Given the description of an element on the screen output the (x, y) to click on. 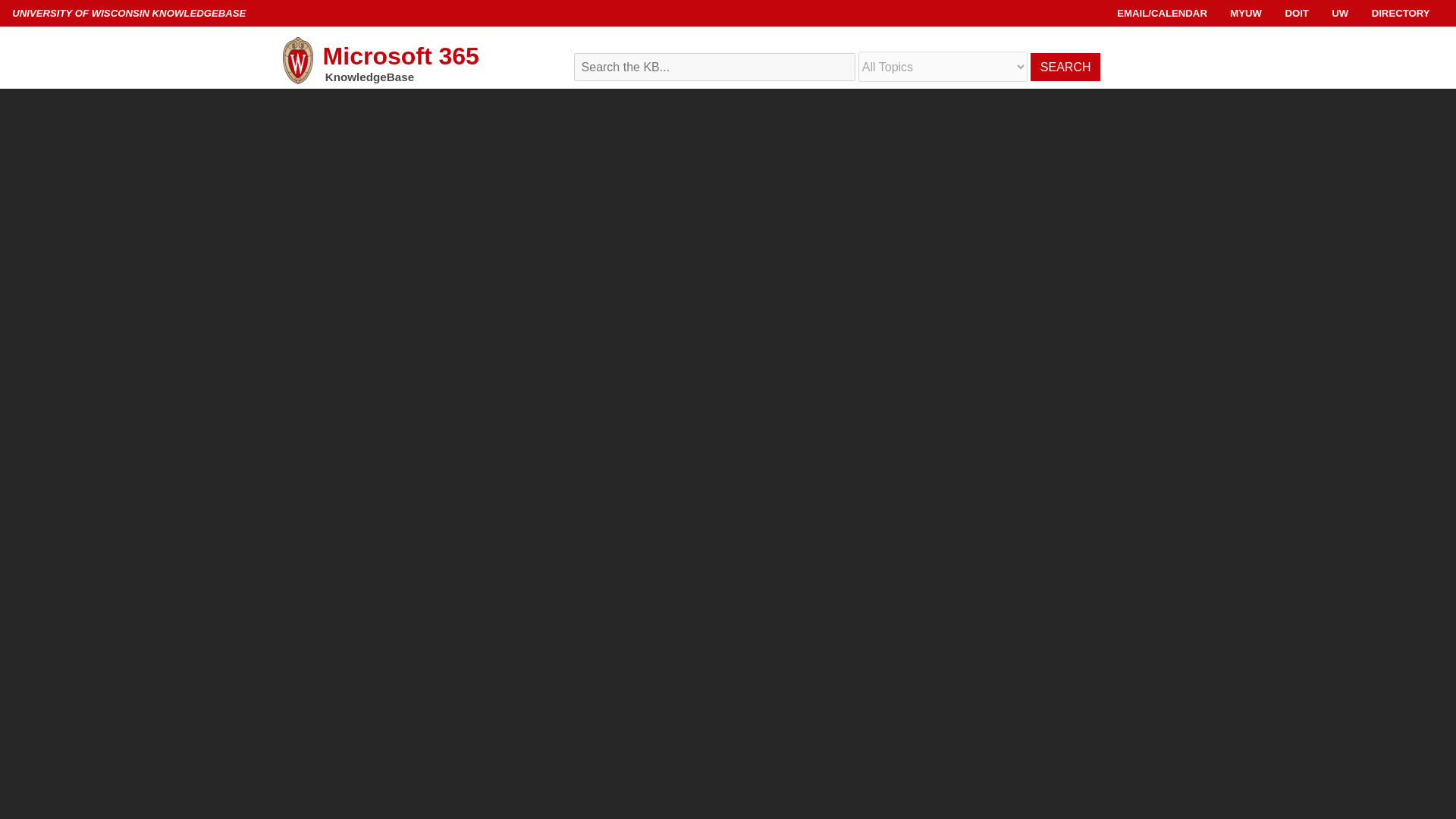
Microsoft 365 (417, 60)
SEARCH (1065, 67)
DOIT (1296, 12)
Search (872, 57)
UNIVERSITY OF WISCONSIN KNOWLEDGEBASE (128, 12)
MYUW (1246, 12)
DIRECTORY (1400, 12)
SEARCH (1065, 67)
SEARCH (1065, 67)
UW (1340, 12)
